Given the description of an element on the screen output the (x, y) to click on. 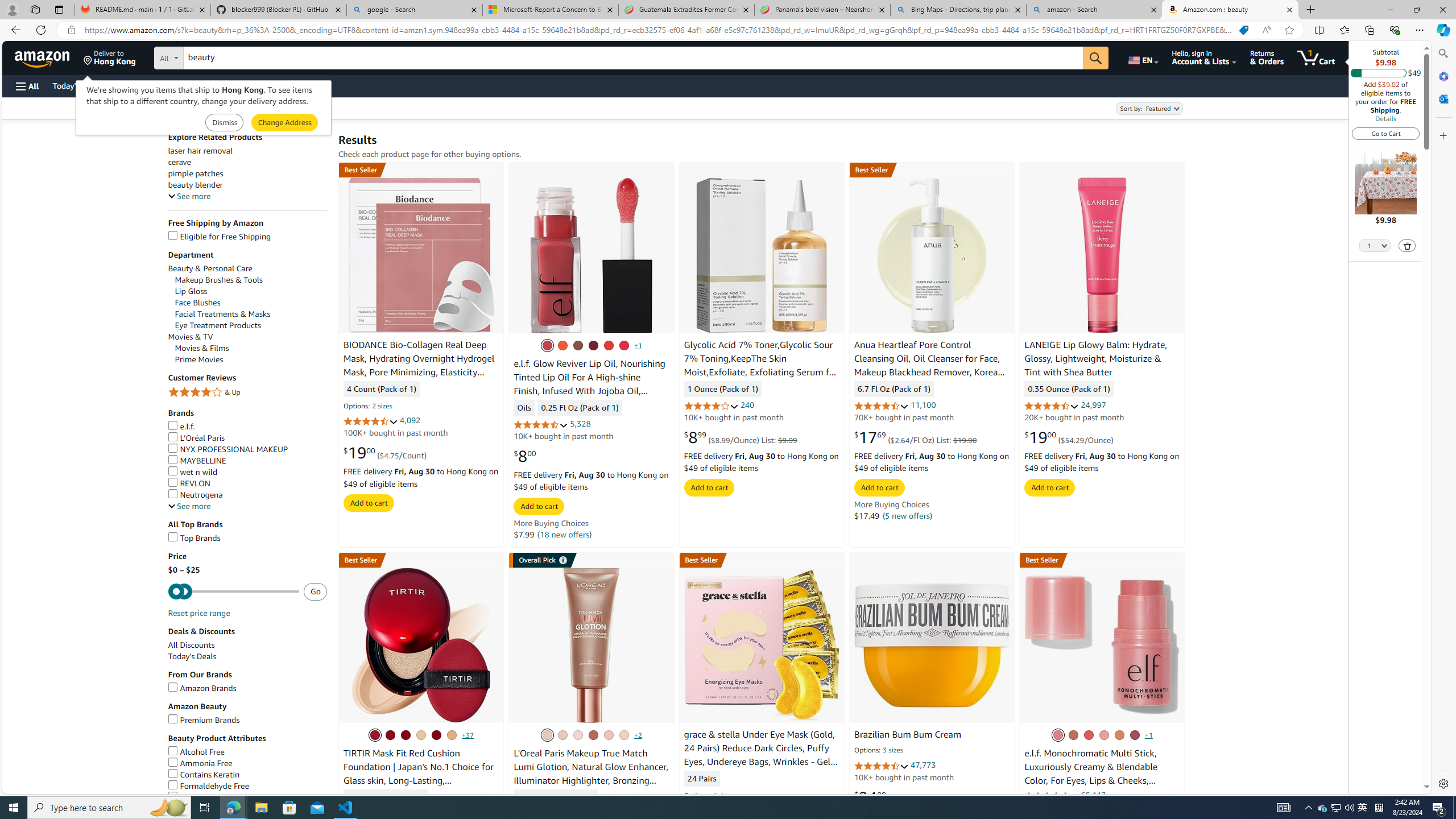
Reset price range (198, 613)
Glistening Peach (1104, 734)
21W Natural Ivory (421, 734)
Delete (1407, 245)
Open Menu (26, 86)
laser hair removal (247, 150)
4.6 out of 5 stars (880, 765)
Eye Treatment Products (250, 325)
902 Light (577, 734)
Go - Submit price range (315, 591)
